Given the description of an element on the screen output the (x, y) to click on. 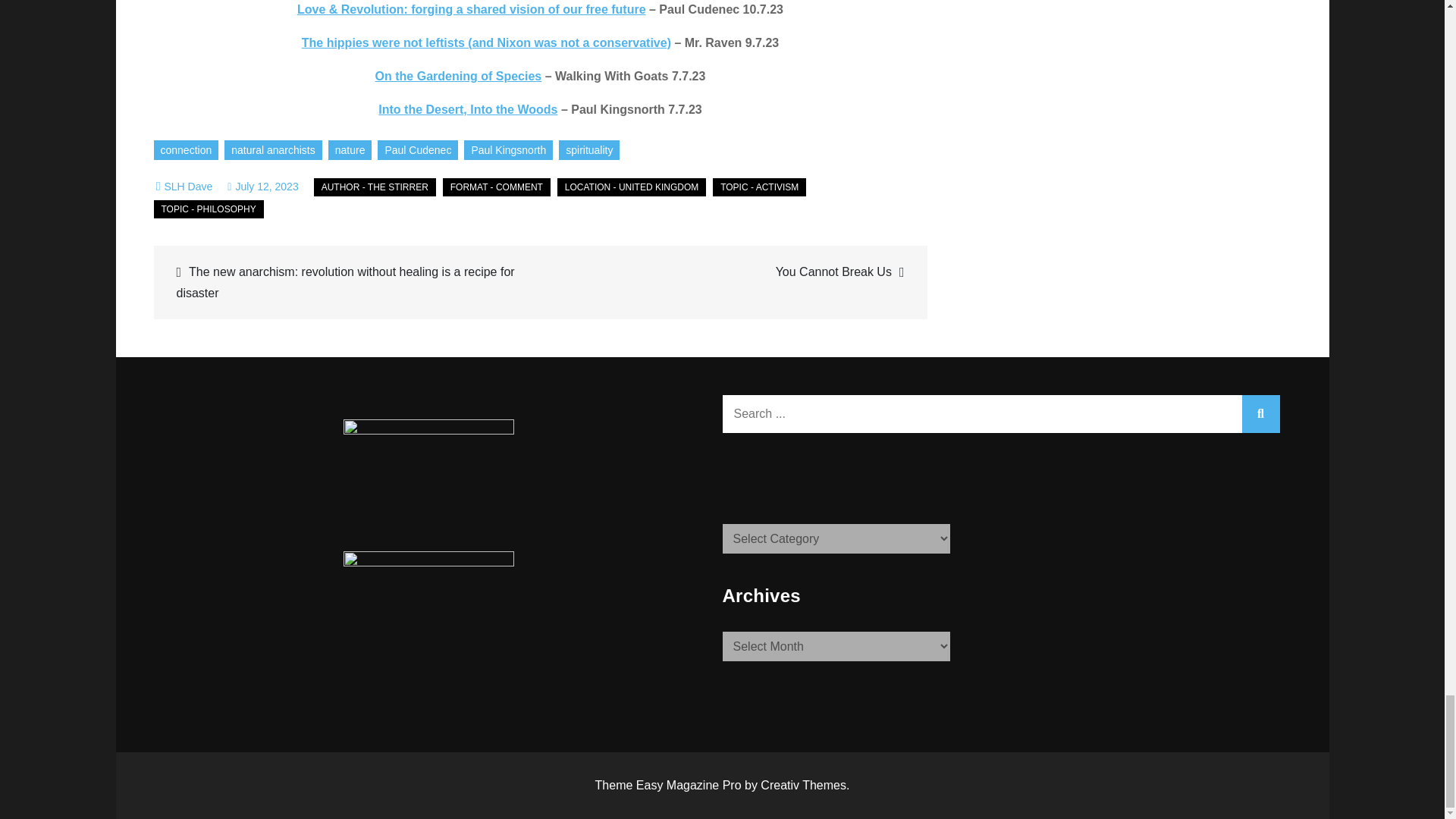
Search for: (1000, 412)
